Given the description of an element on the screen output the (x, y) to click on. 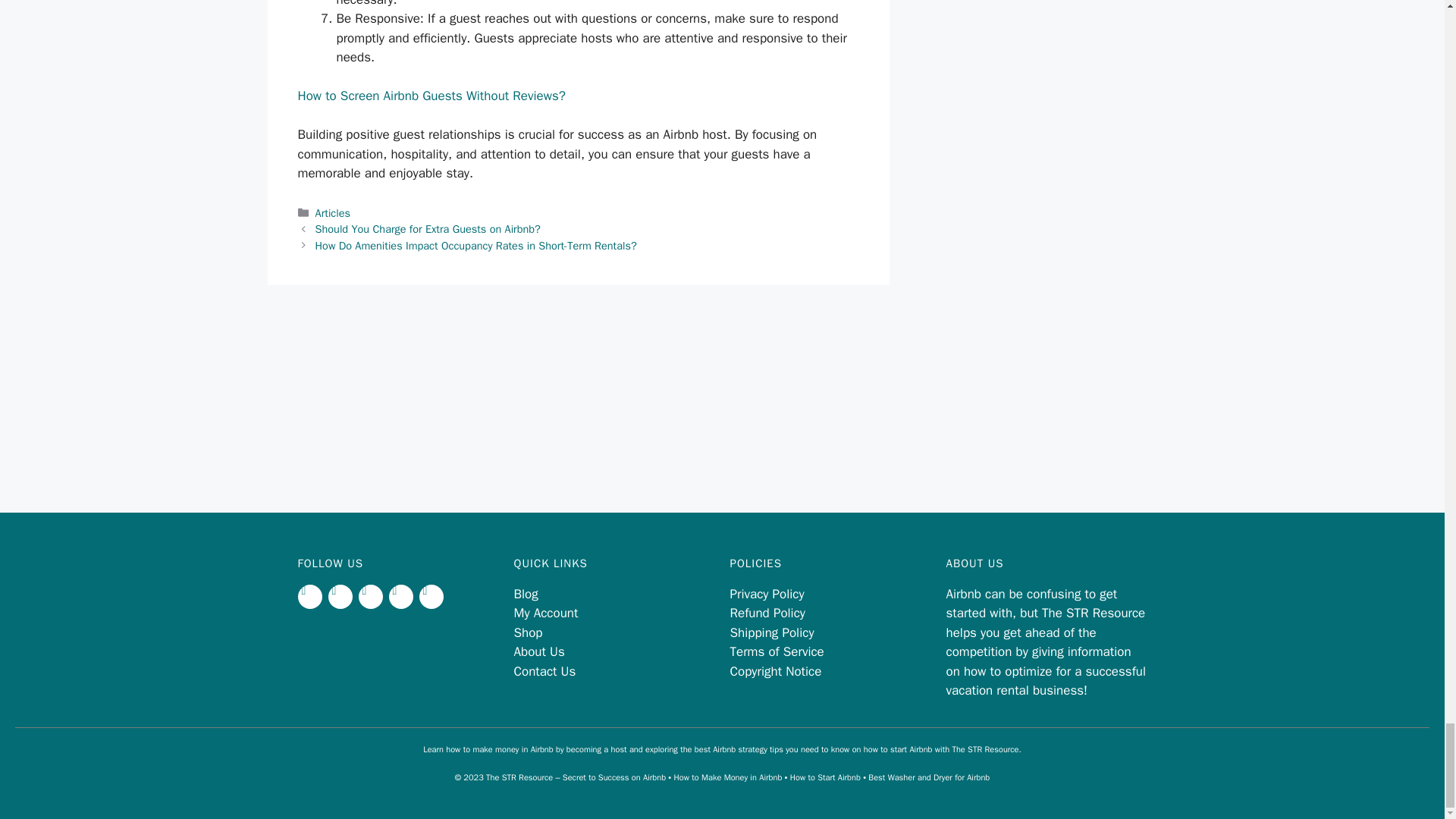
How to Screen Airbnb Guests Without Reviews? (430, 95)
How to screen Airbnb guests without reviews? (430, 95)
Articles (332, 213)
Should You Charge for Extra Guests on Airbnb? (427, 228)
